Given the description of an element on the screen output the (x, y) to click on. 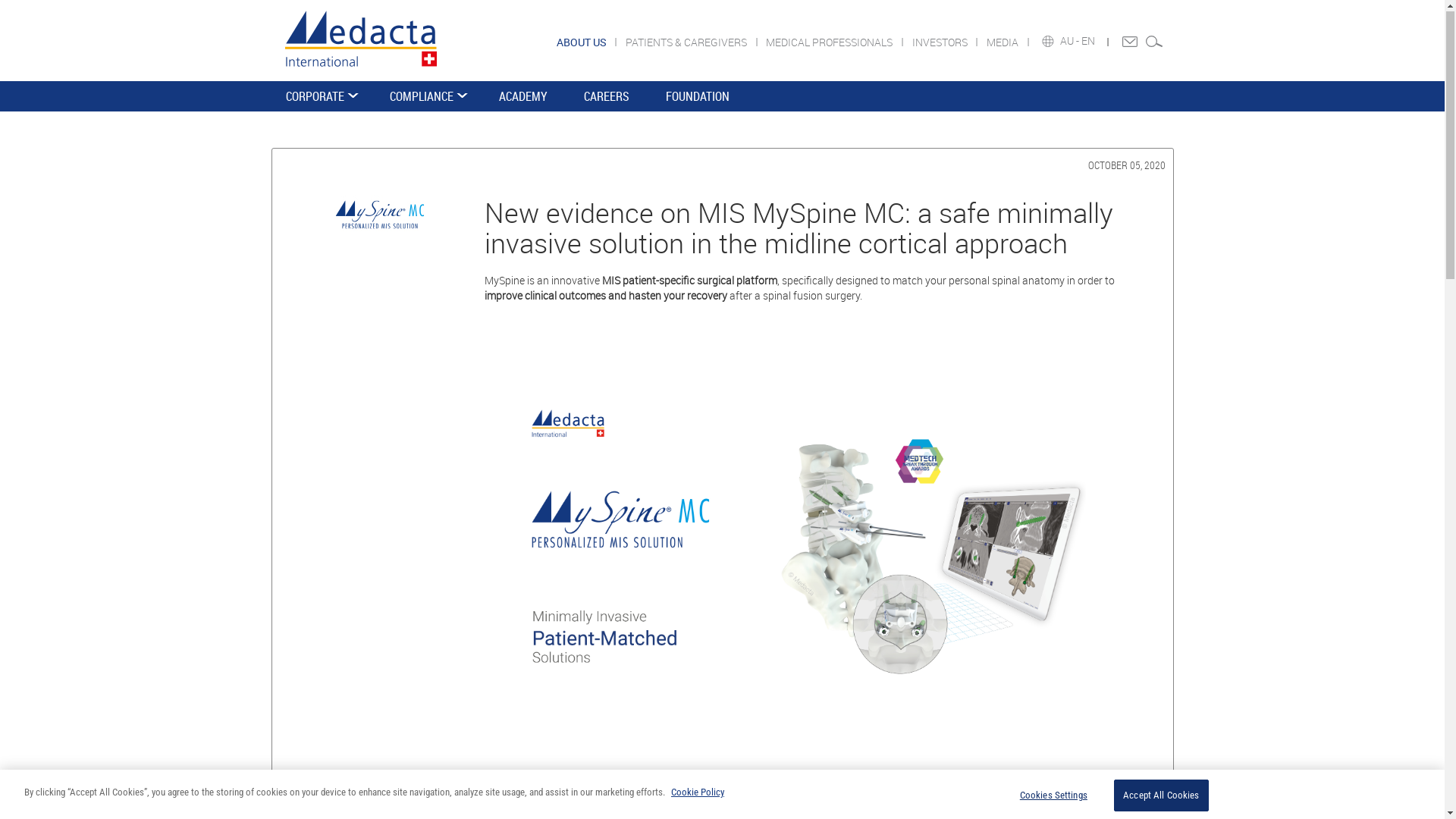
CAREERS Element type: text (606, 97)
MEDICAL PROFESSIONALS Element type: text (837, 43)
EN Element type: text (1089, 42)
INVESTORS Element type: text (948, 43)
Accept All Cookies Element type: text (1160, 796)
Cookies Settings Element type: text (1053, 796)
Cookie Policy Element type: text (697, 793)
ACADEMY Element type: text (522, 97)
FOUNDATION Element type: text (697, 97)
CORPORATE Element type: text (318, 97)
COMPLIANCE Element type: text (425, 97)
PATIENTS & CAREGIVERS Element type: text (694, 43)
AU - Element type: text (1070, 42)
ABOUT US Element type: text (589, 43)
MEDIA Element type: text (1010, 43)
